Given the description of an element on the screen output the (x, y) to click on. 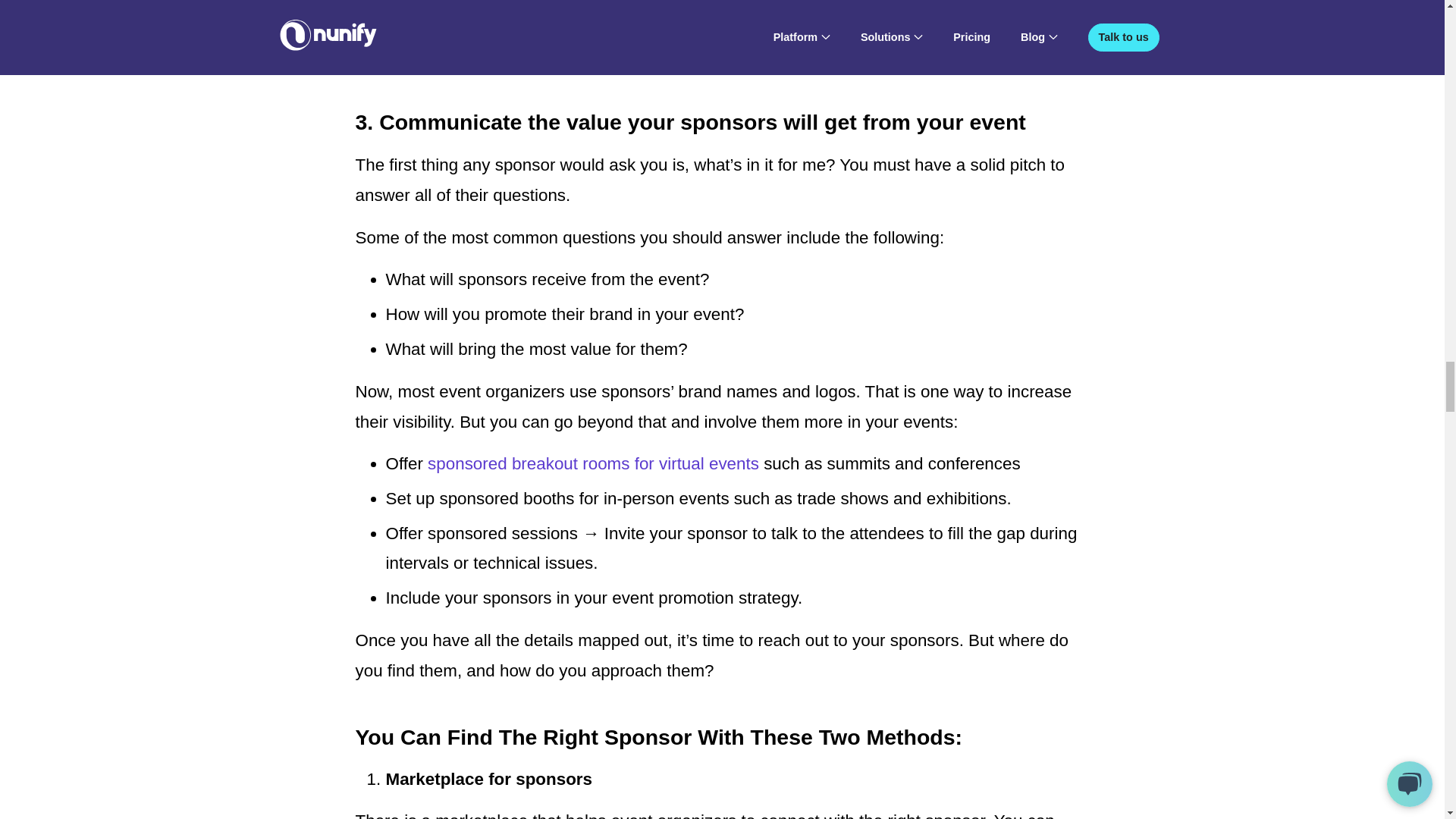
sponsored breakout rooms for virtual events (593, 463)
